Given the description of an element on the screen output the (x, y) to click on. 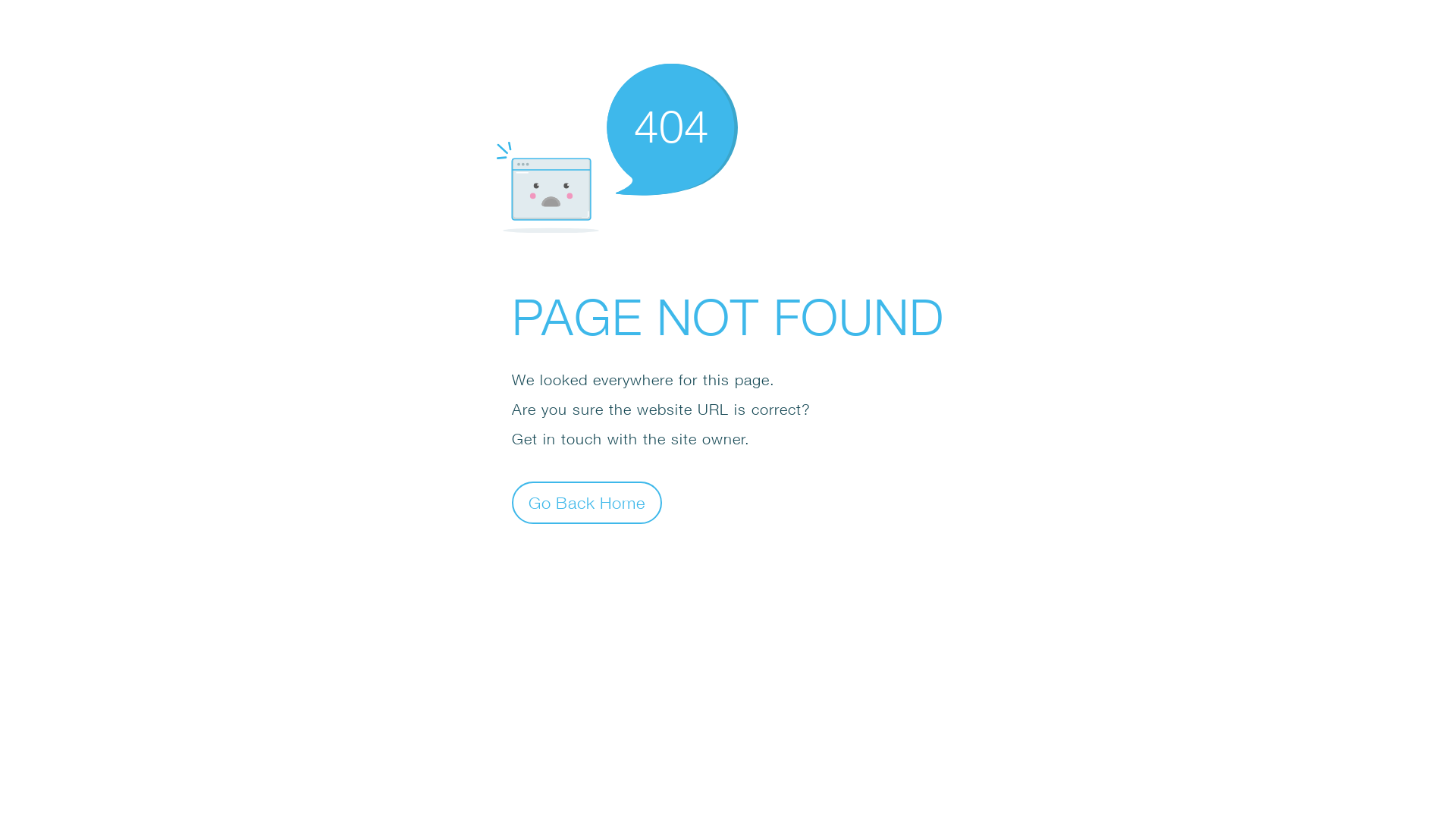
Go Back Home Element type: text (586, 502)
